Given the description of an element on the screen output the (x, y) to click on. 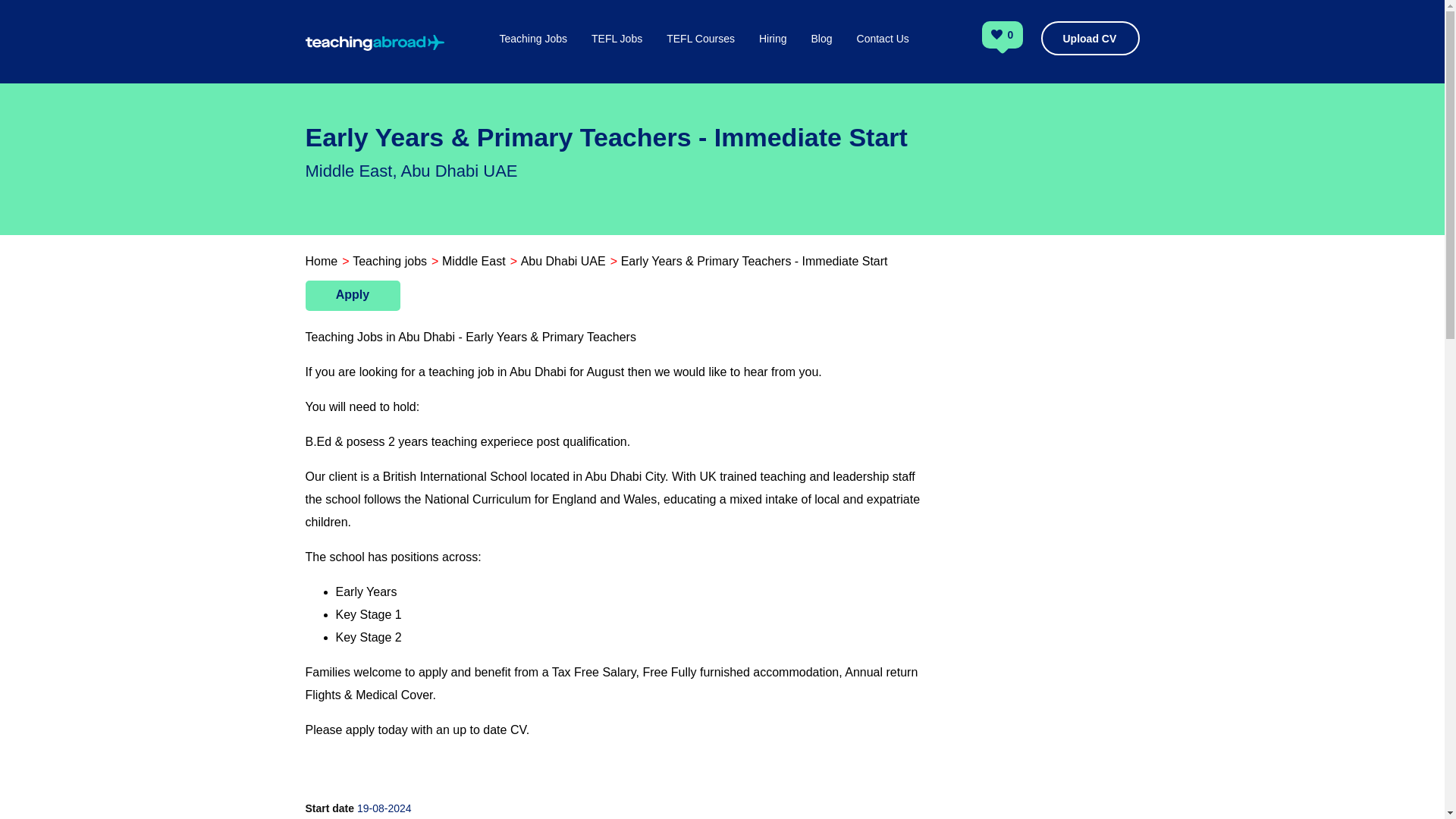
Middle East (473, 260)
TEFL Courses (700, 55)
Upload CV (1089, 38)
Teaching Jobs (533, 55)
Abu Dhabi UAE (563, 260)
Apply (351, 295)
Teaching jobs (389, 260)
Contact Us (882, 55)
0 (1011, 36)
Home (320, 260)
TEFL Jobs (616, 55)
